Given the description of an element on the screen output the (x, y) to click on. 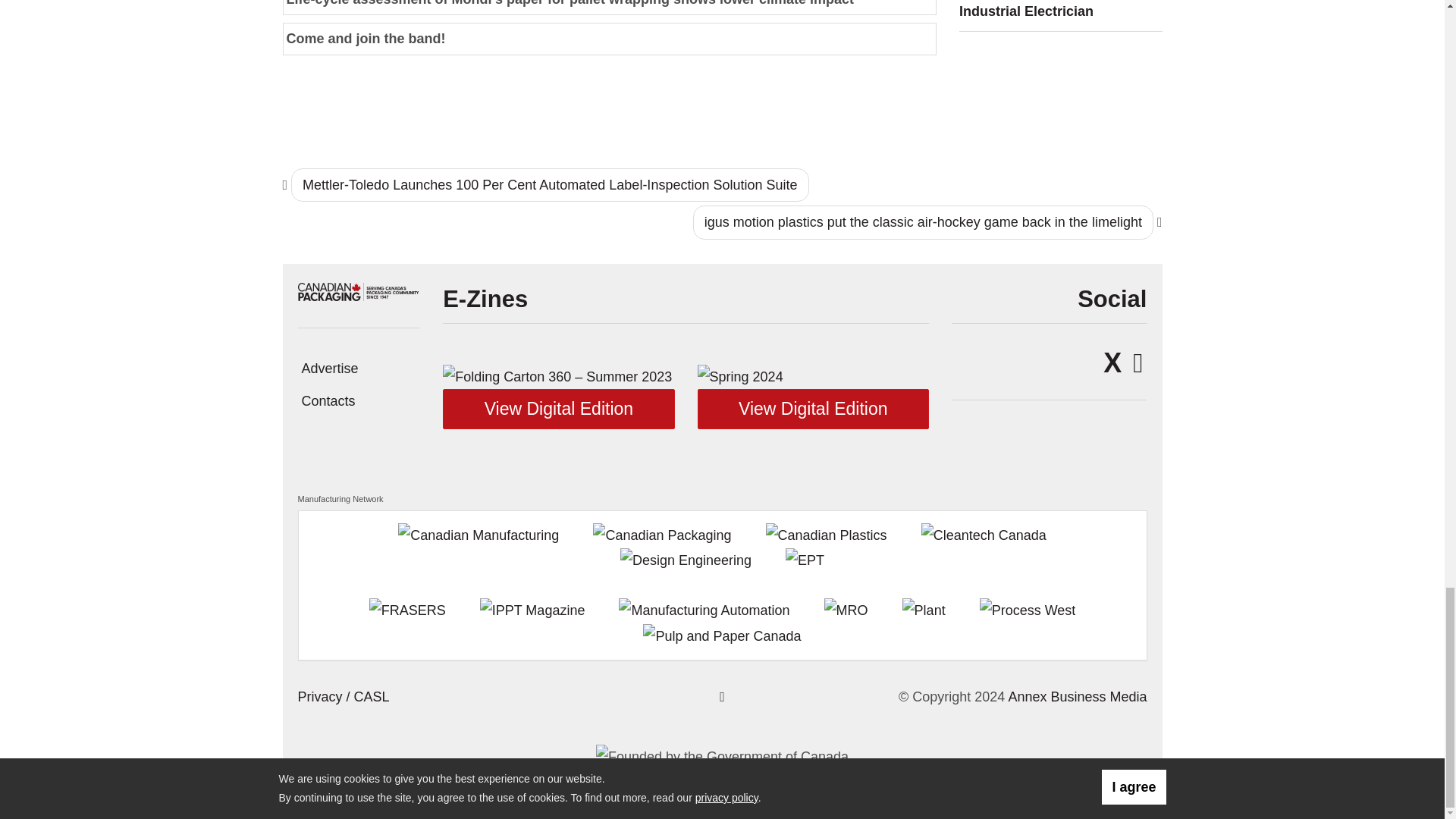
Annex Business Media (1077, 696)
Canadian Packaging (358, 290)
scroll to top (722, 696)
